Given the description of an element on the screen output the (x, y) to click on. 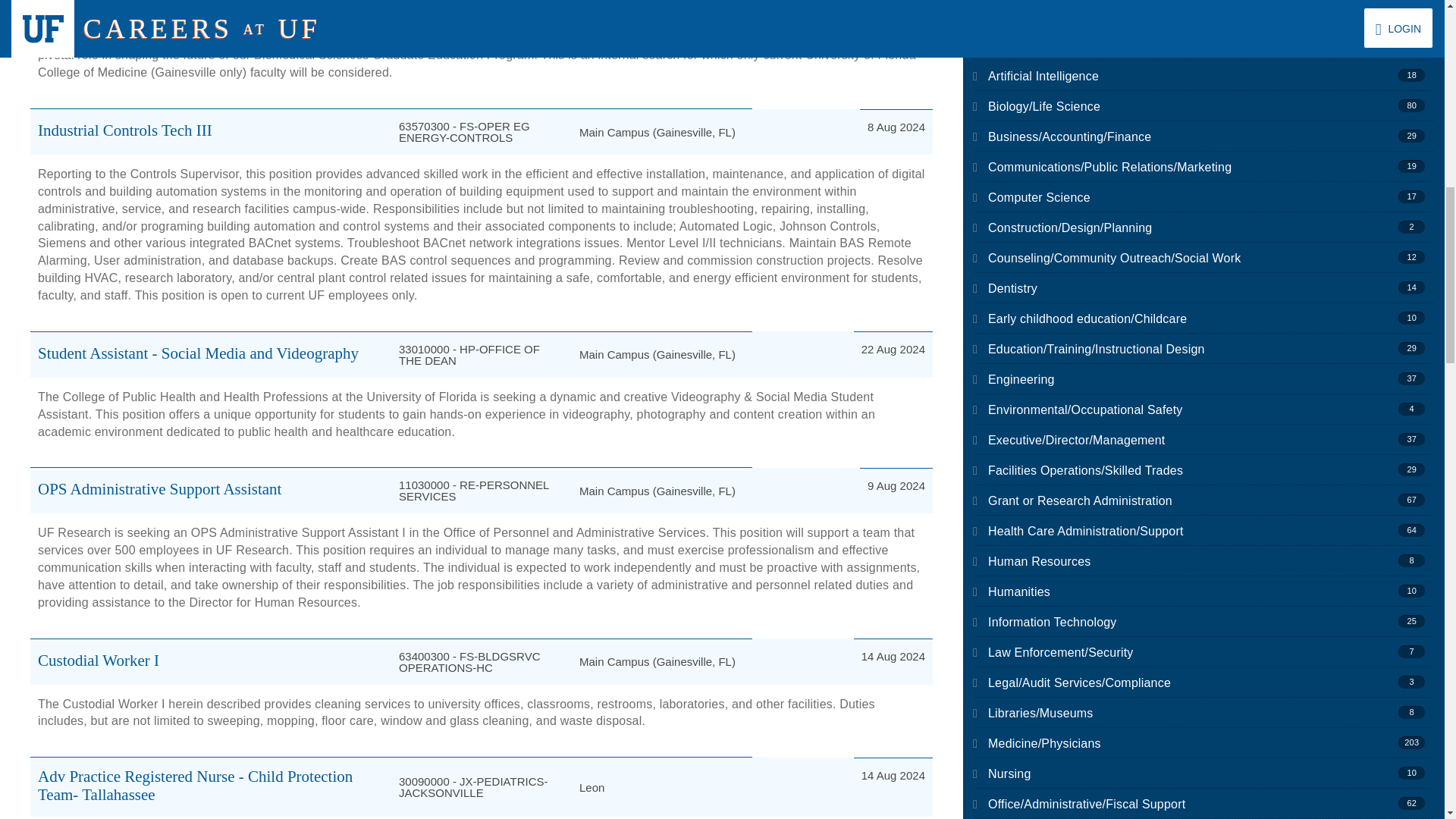
Custodial Worker I (97, 660)
OPS Administrative Support Assistant (159, 488)
Student Assistant - Social Media and Videography (197, 352)
Industrial Controls Tech III (124, 130)
